Given the description of an element on the screen output the (x, y) to click on. 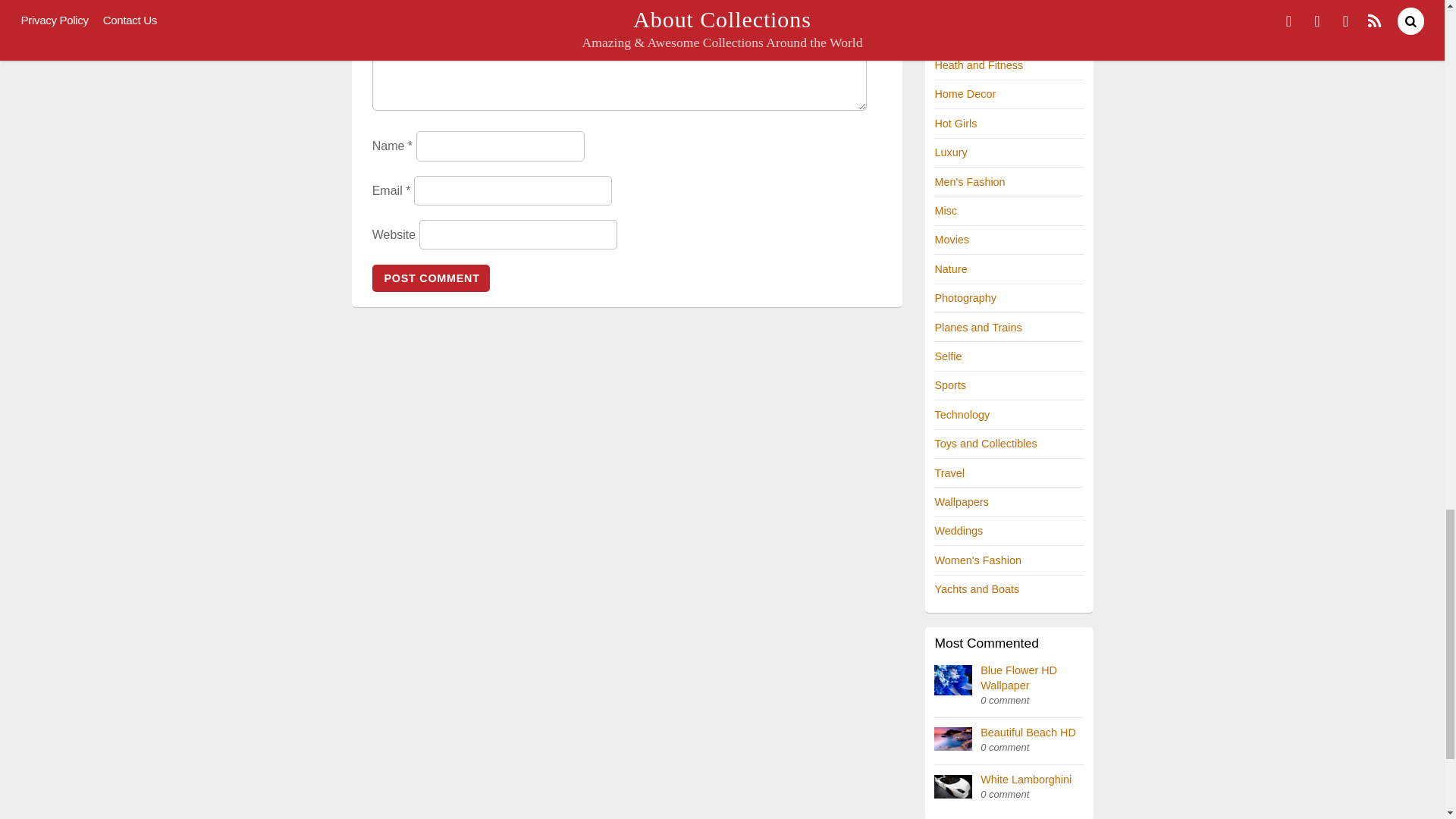
Heath and Fitness (978, 64)
Post Comment (431, 277)
Hair and Beauty (972, 36)
Funny (948, 6)
Luxury (950, 152)
Men's Fashion (969, 182)
Home Decor (964, 93)
Hot Girls (955, 123)
Post Comment (431, 277)
Misc (945, 210)
